Given the description of an element on the screen output the (x, y) to click on. 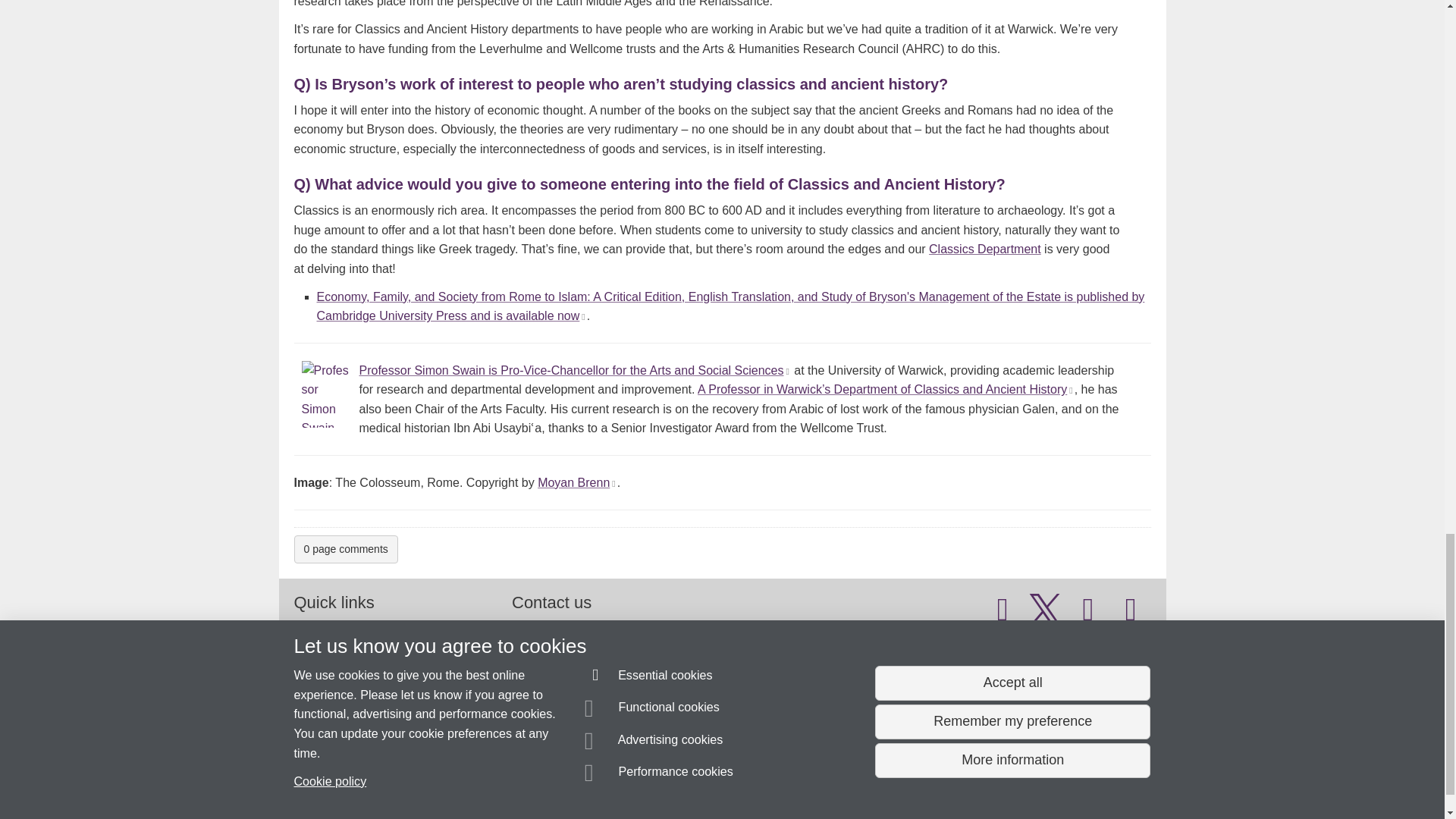
University of Warwick on Foursquare (1130, 616)
University of Warwick on YouTube (1088, 616)
Information about cookies (467, 817)
University of Warwick on Facebook (1002, 616)
More information about SiteBuilder (365, 817)
University of Warwick on Twitter (1045, 616)
